Given the description of an element on the screen output the (x, y) to click on. 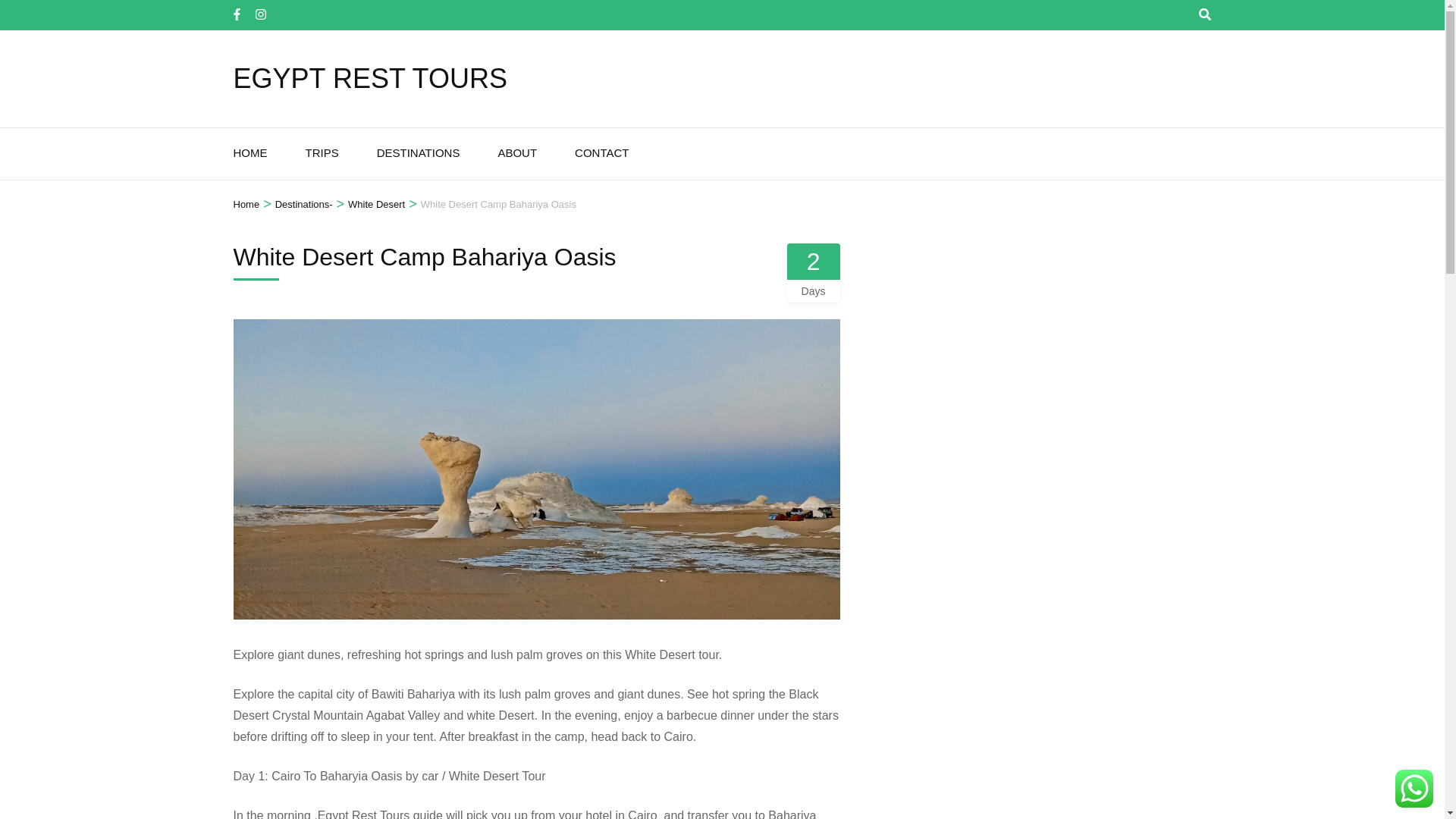
DESTINATIONS (418, 153)
Home (246, 204)
White Desert (375, 204)
CONTACT (601, 153)
Destinations- (304, 204)
EGYPT REST TOURS (369, 78)
White Desert Camp Bahariya Oasis (498, 204)
